Given the description of an element on the screen output the (x, y) to click on. 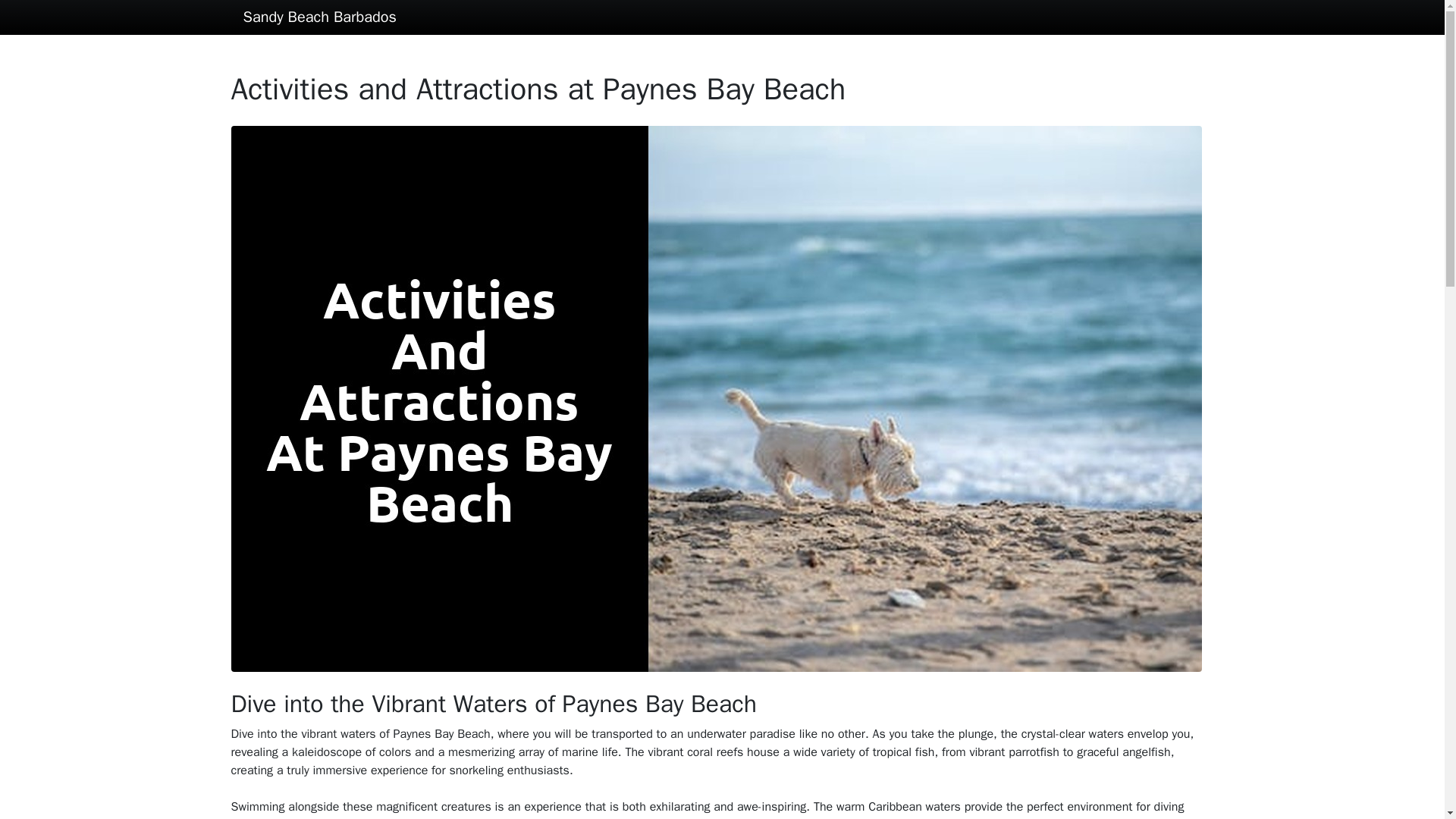
Sandy Beach Barbados (319, 16)
